Given the description of an element on the screen output the (x, y) to click on. 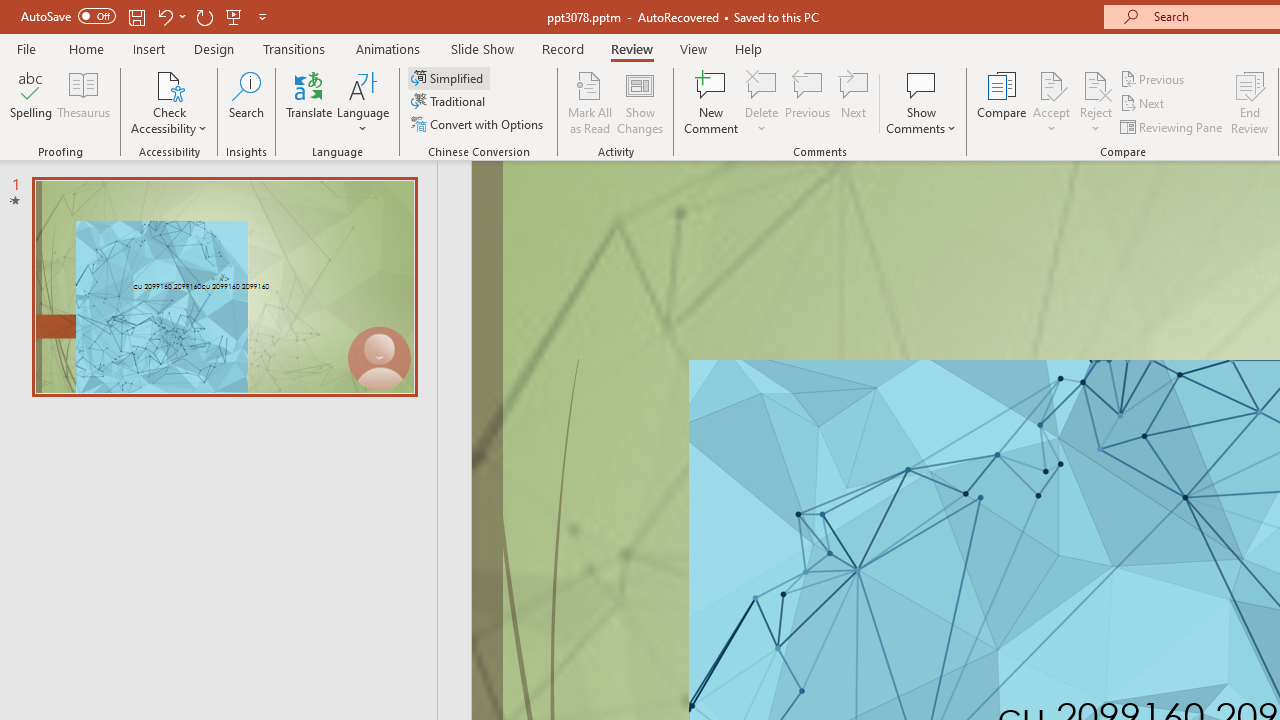
Language (363, 102)
Reviewing Pane (1172, 126)
Traditional (449, 101)
